Given the description of an element on the screen output the (x, y) to click on. 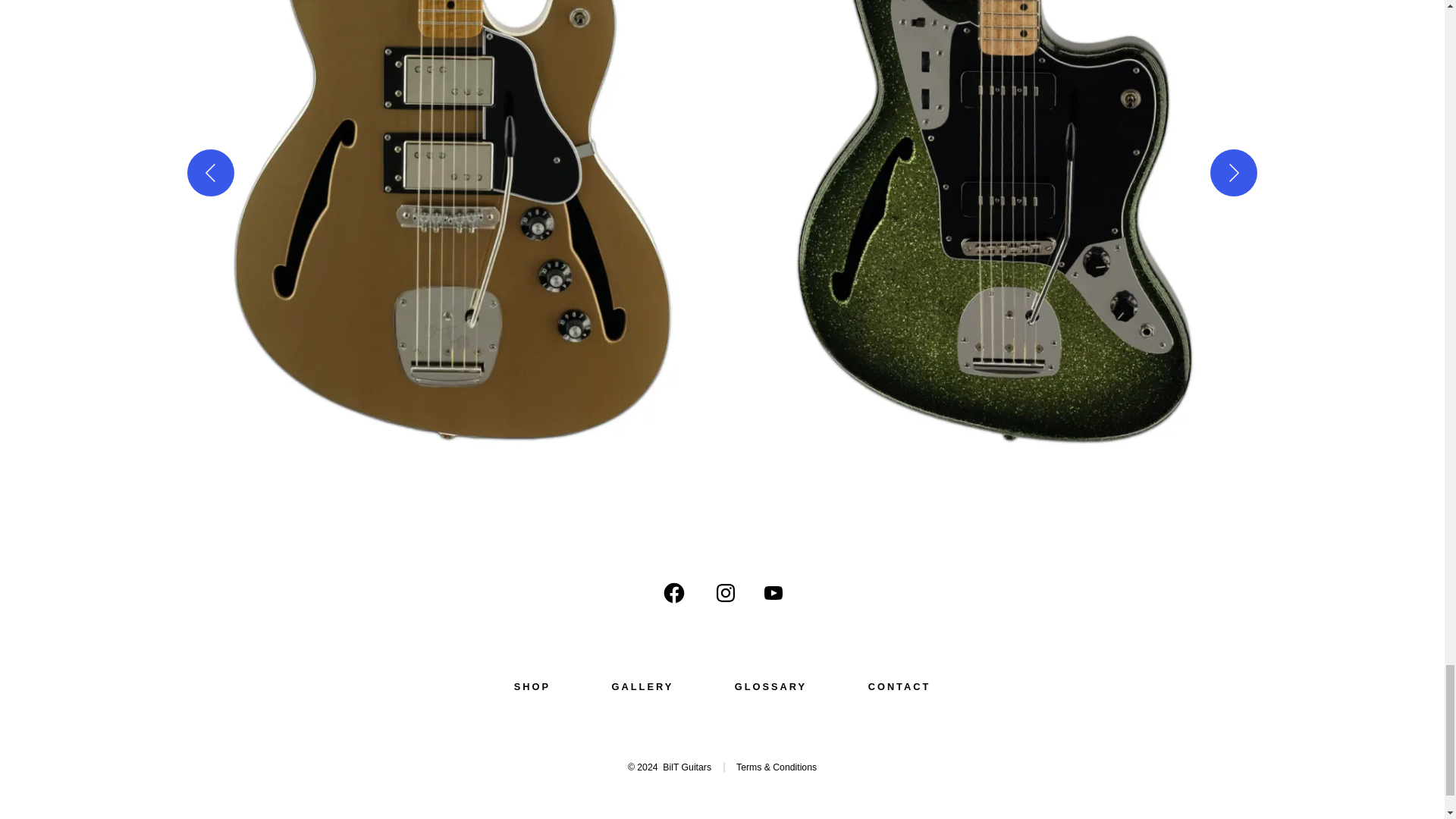
Open Instagram in a new tab (724, 592)
GALLERY (641, 686)
GLOSSARY (769, 686)
Open Facebook in a new tab (673, 592)
SHOP (531, 686)
